Given the description of an element on the screen output the (x, y) to click on. 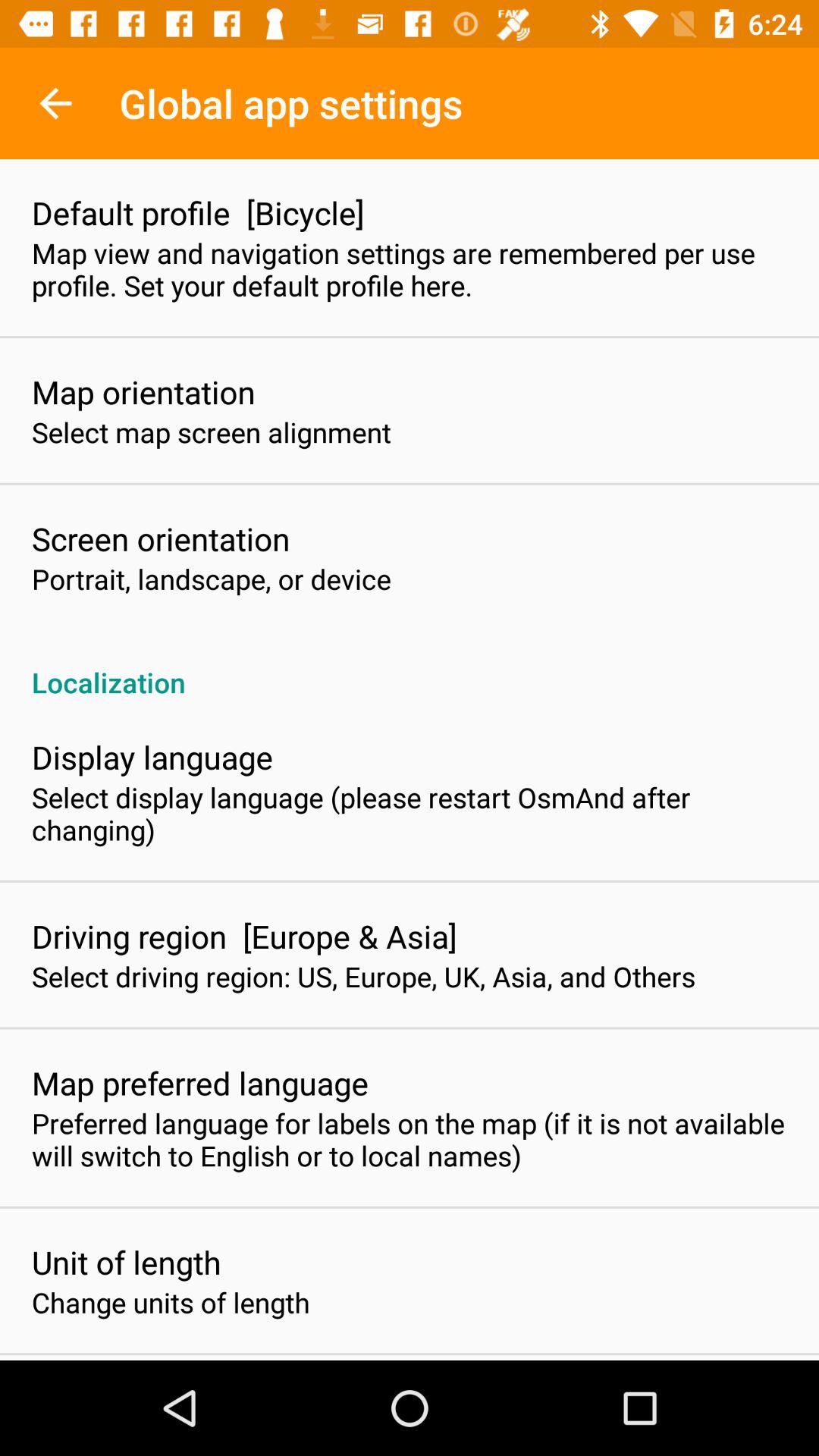
launch the app to the left of the global app settings item (55, 103)
